Given the description of an element on the screen output the (x, y) to click on. 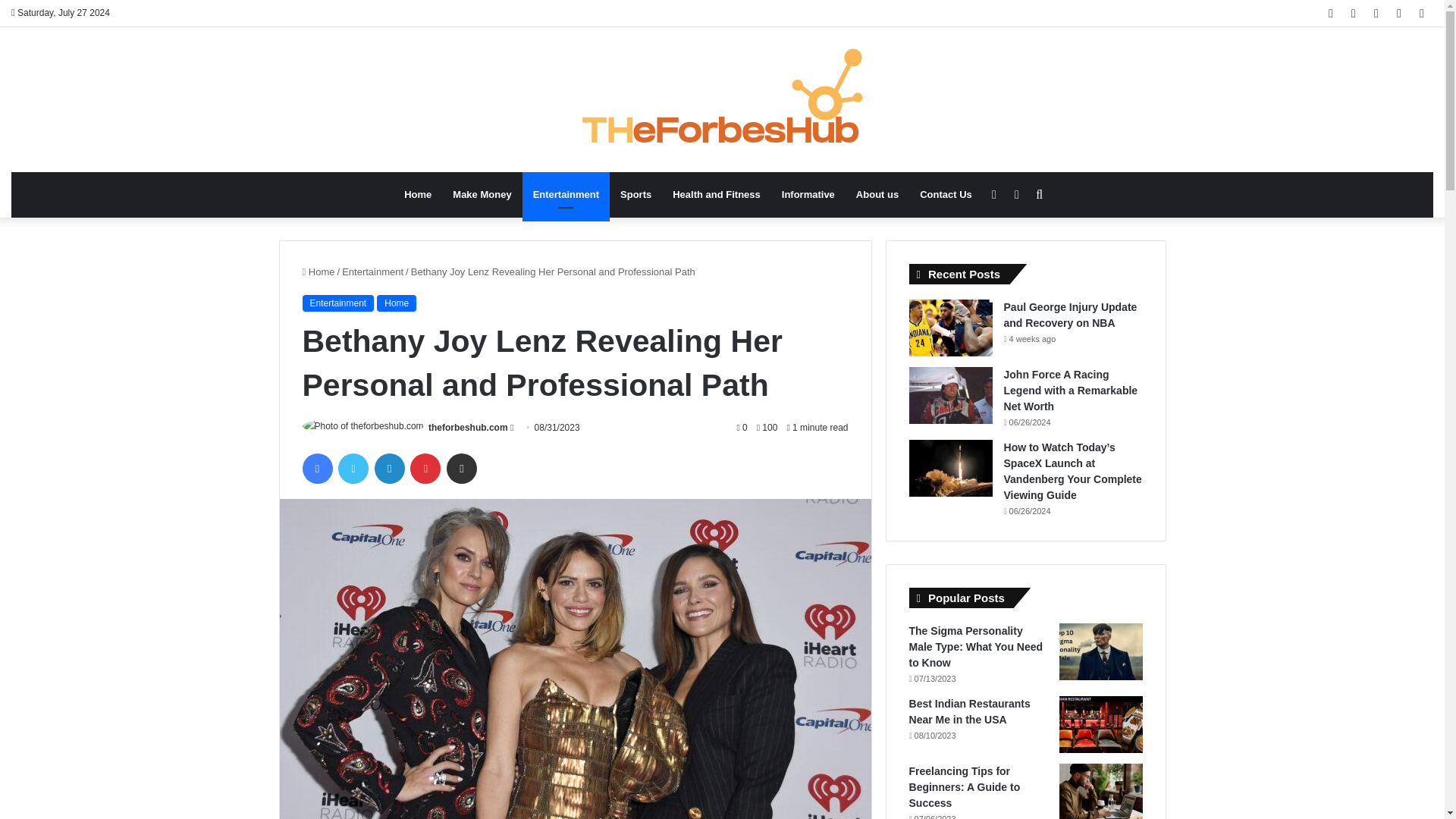
Theforbeshub (721, 99)
Entertainment (372, 271)
Contact Us (945, 194)
Twitter (352, 468)
Share via Email (461, 468)
Facebook (316, 468)
Home (396, 303)
Home (417, 194)
About us (876, 194)
theforbeshub.com (468, 427)
Informative (808, 194)
Pinterest (425, 468)
LinkedIn (389, 468)
Home (317, 271)
Health and Fitness (716, 194)
